Given the description of an element on the screen output the (x, y) to click on. 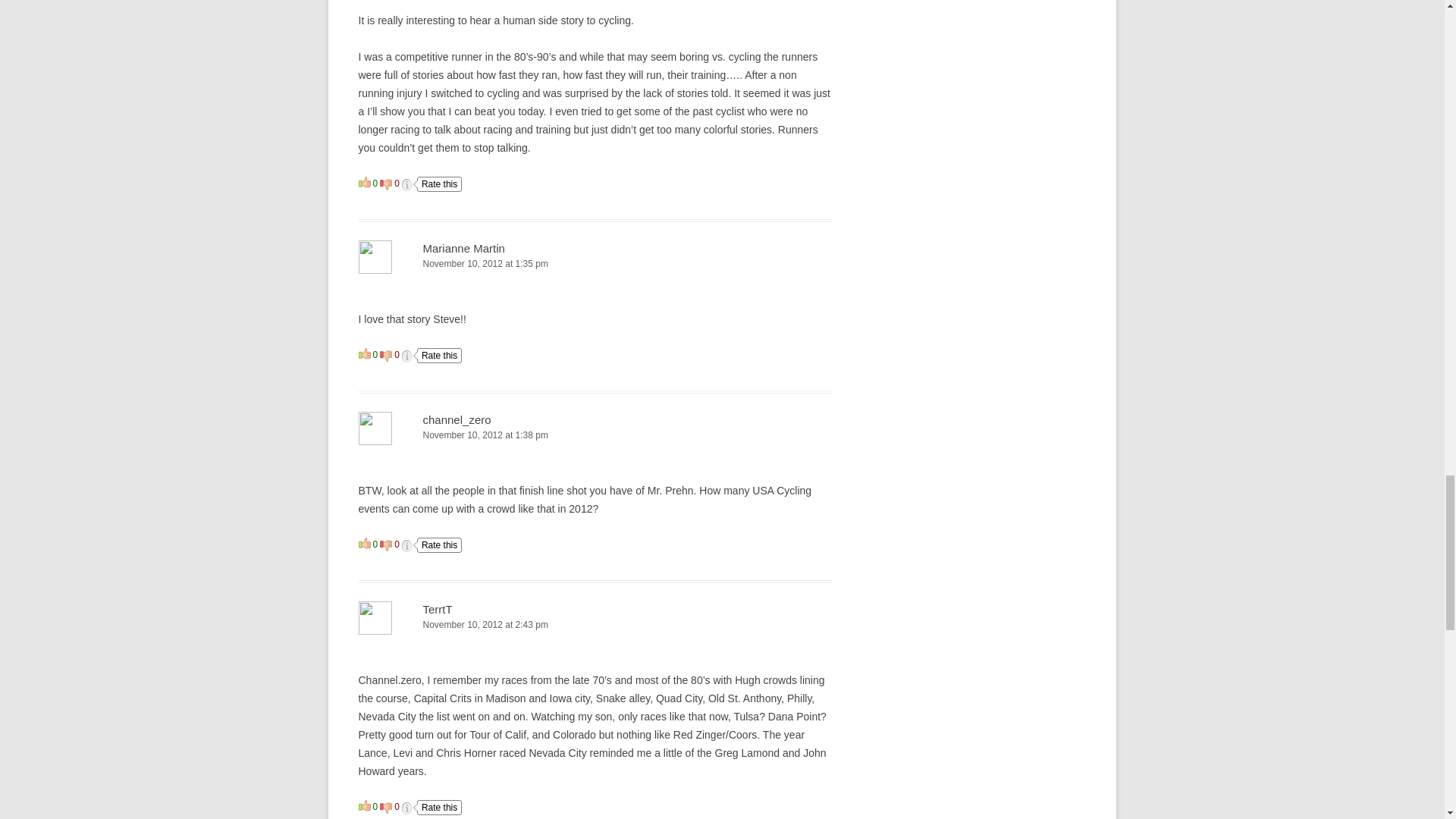
Marianne Martin (464, 247)
November 10, 2012 at 1:38 pm (594, 435)
November 10, 2012 at 1:35 pm (594, 263)
November 10, 2012 at 2:43 pm (594, 625)
